Given the description of an element on the screen output the (x, y) to click on. 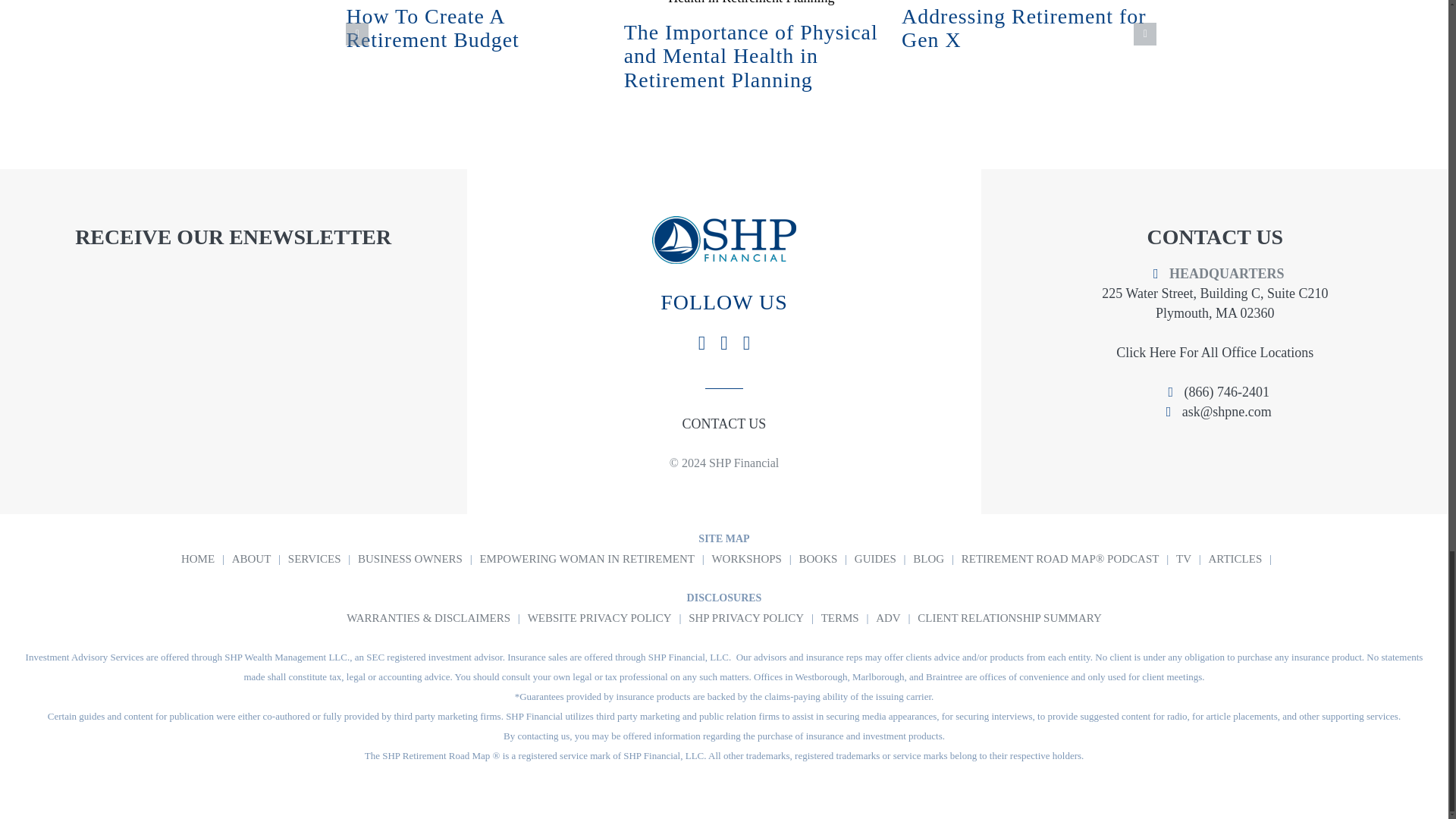
Addressing Retirement for Gen X (1023, 28)
How To Create A Retirement Budget (432, 28)
